Given the description of an element on the screen output the (x, y) to click on. 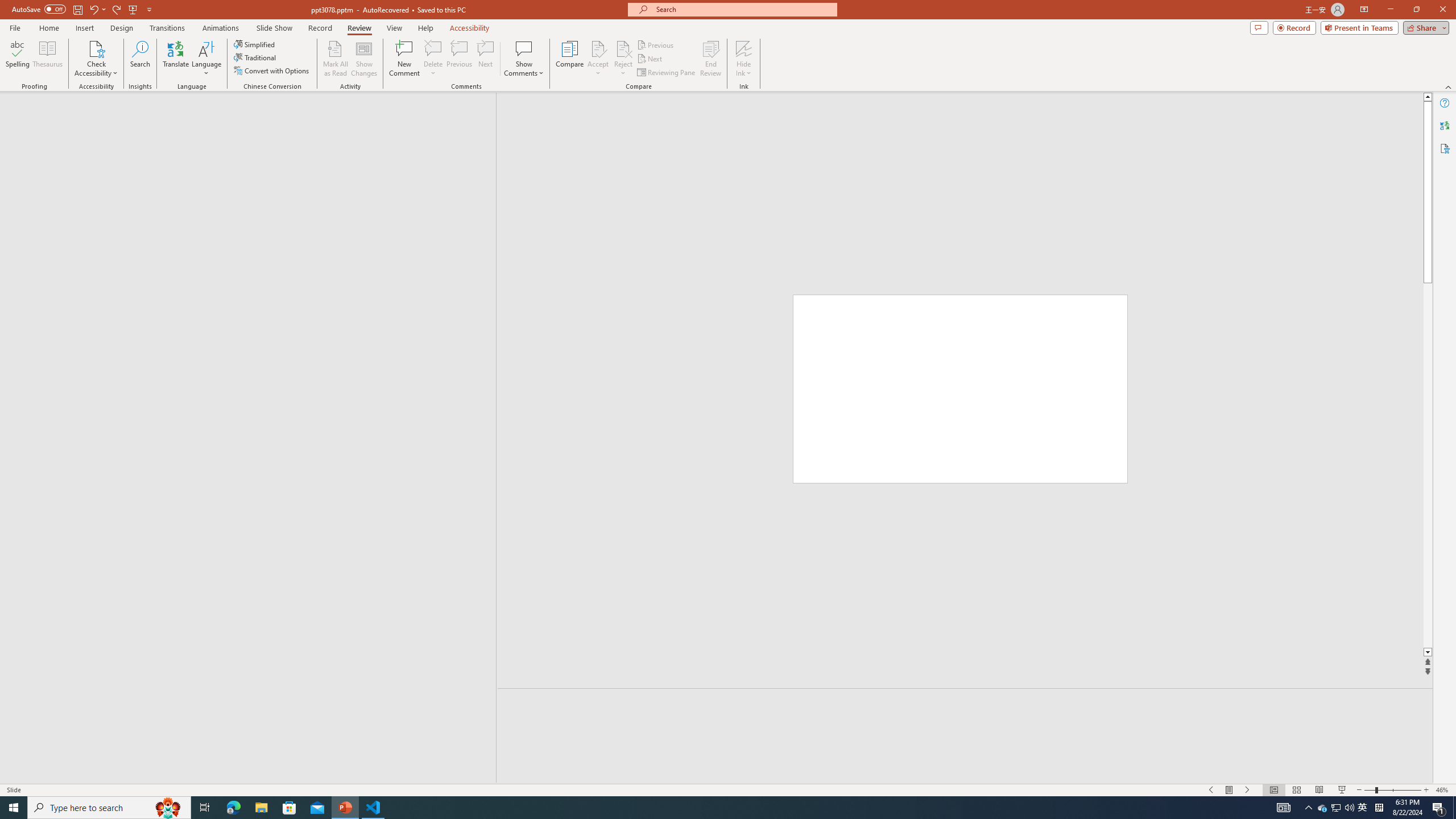
Check Accessibility (95, 58)
Outline (252, 114)
Line up (1427, 96)
Slide Notes (965, 705)
Translate (175, 58)
Simplified (254, 44)
Reviewing Pane (666, 72)
End Review (710, 58)
Reject Change (622, 48)
Next (649, 58)
Microsoft search (742, 9)
